Given the description of an element on the screen output the (x, y) to click on. 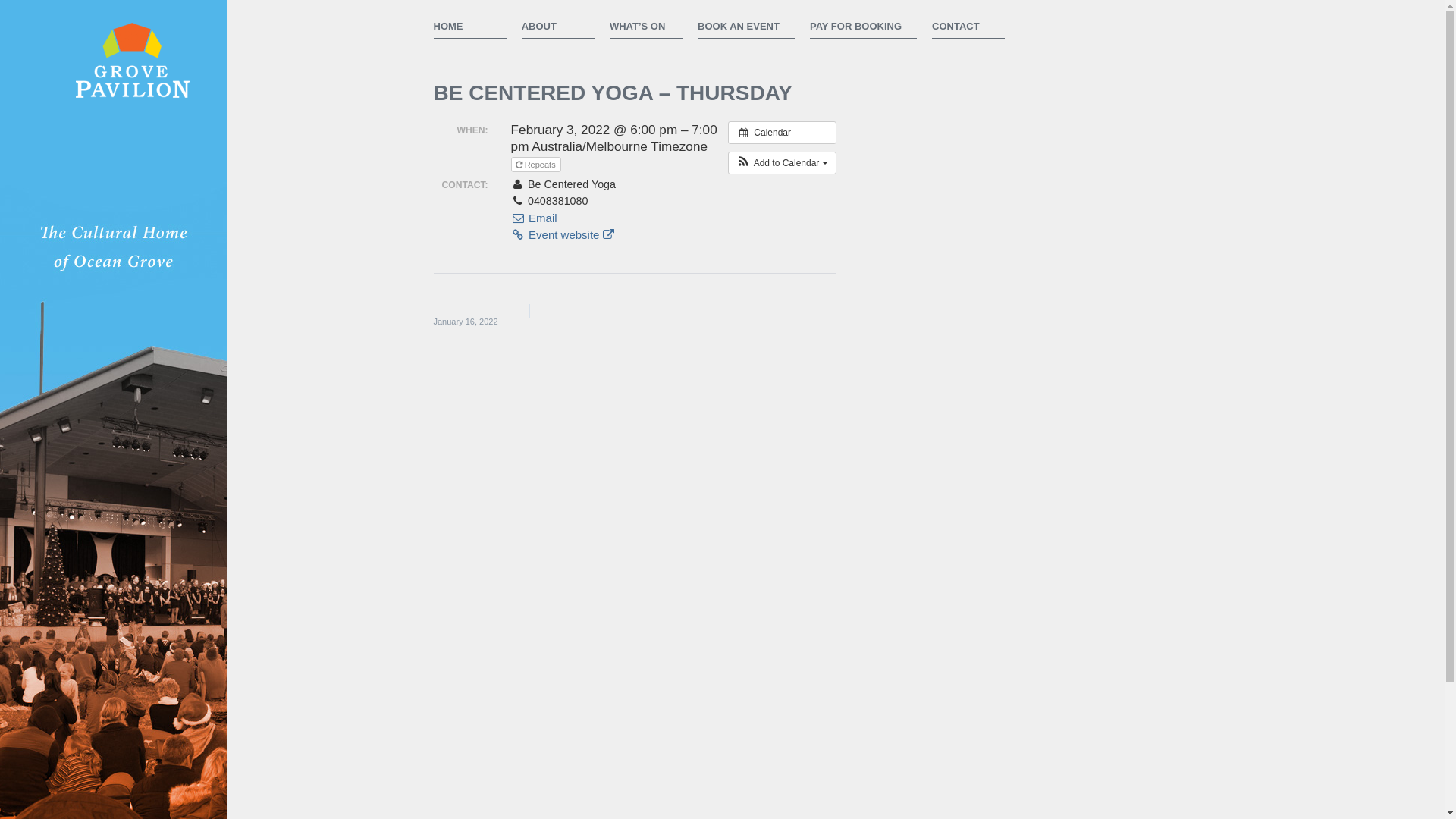
HOME Element type: text (469, 26)
Calendar Element type: text (782, 132)
BOOK AN EVENT Element type: text (745, 26)
Event website Element type: text (562, 234)
PAY FOR BOOKING Element type: text (862, 26)
Repeats Element type: text (536, 164)
CONTACT Element type: text (967, 26)
ABOUT Element type: text (557, 26)
Email Element type: text (534, 217)
